Given the description of an element on the screen output the (x, y) to click on. 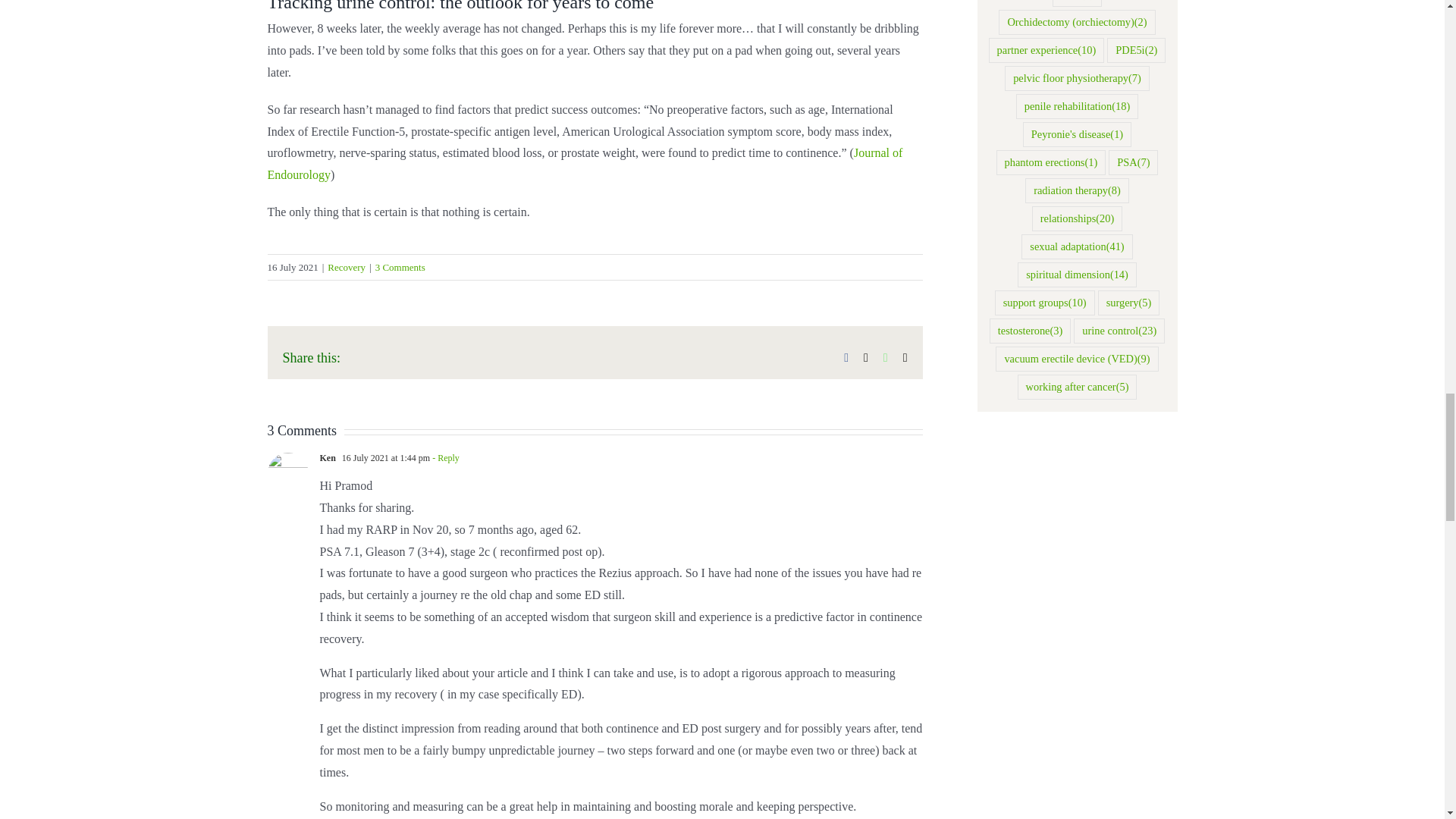
X (865, 357)
- Reply (444, 457)
Facebook (846, 357)
Facebook (846, 357)
X (865, 357)
Email (904, 357)
Recovery (346, 266)
Journal of Endourology (584, 163)
3 Comments (400, 266)
WhatsApp (885, 357)
WhatsApp (885, 357)
Email (904, 357)
